Given the description of an element on the screen output the (x, y) to click on. 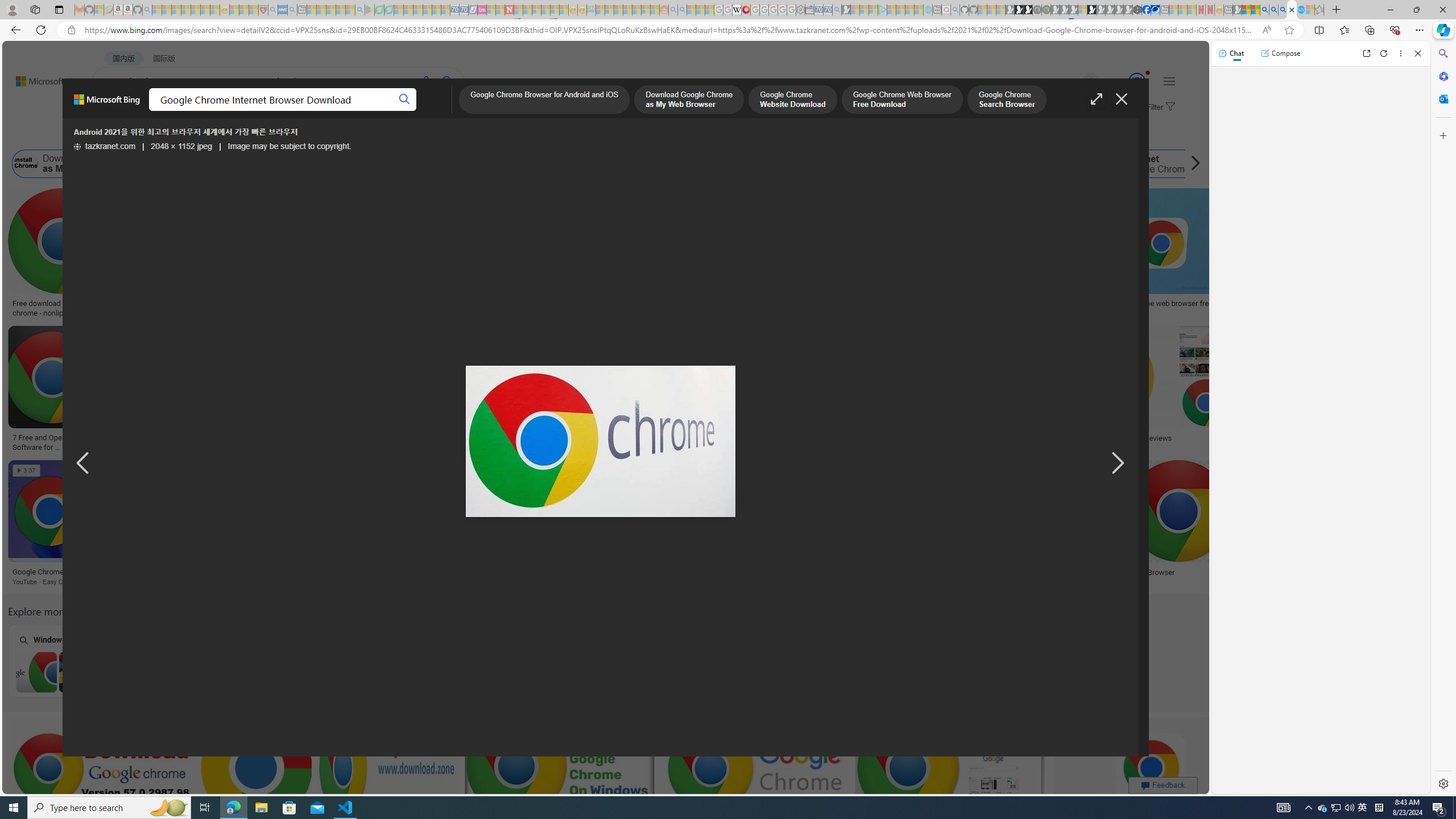
WEB (114, 111)
Chrome Browser Download Windows 10 64-Bit Windows 10 64-Bit (370, 660)
Layout (252, 135)
Type (212, 135)
Previous image result (82, 463)
DICT (407, 111)
Google.com Chrome Download (781, 163)
